Given the description of an element on the screen output the (x, y) to click on. 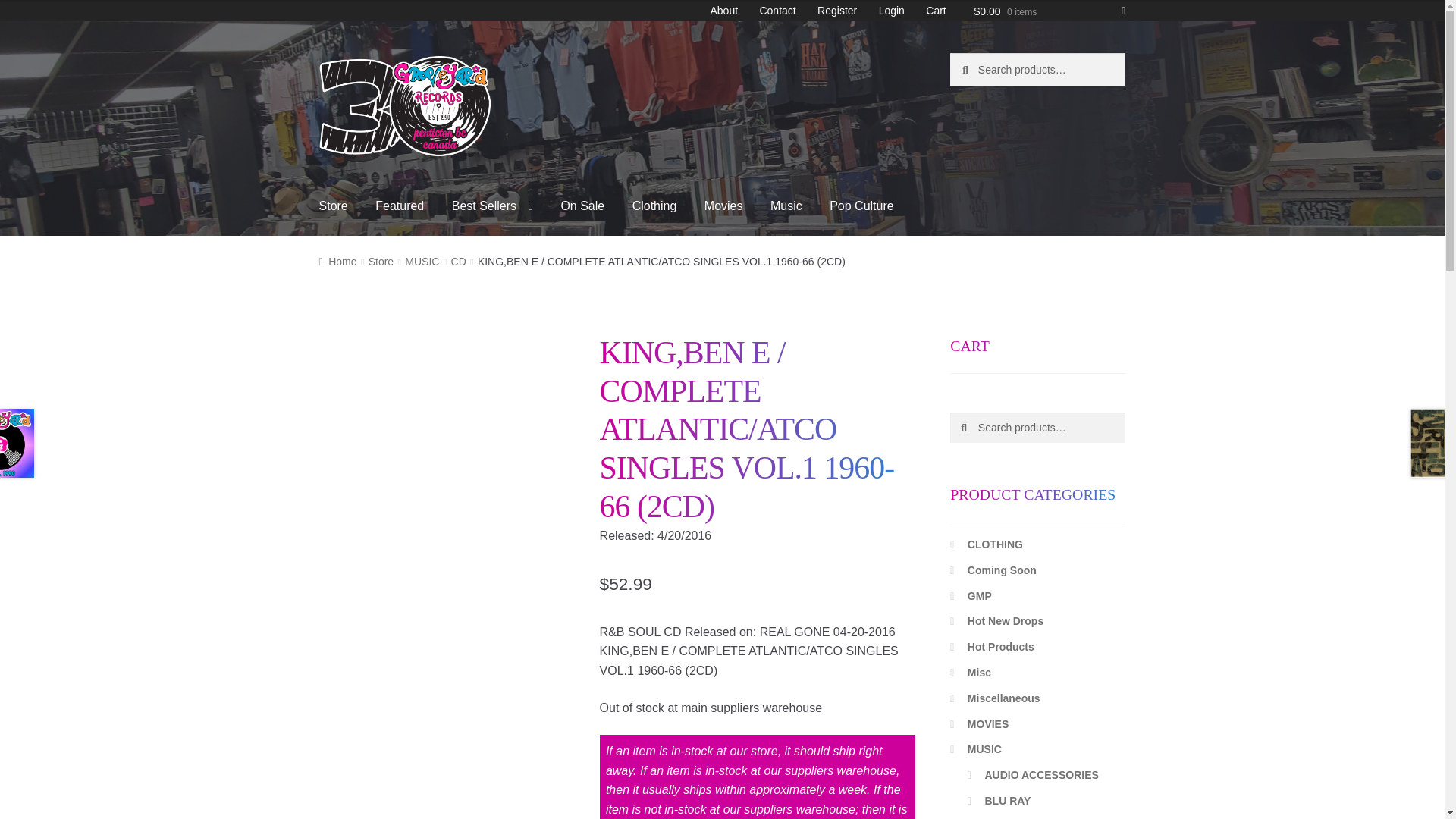
View your shopping cart (1049, 9)
Featured (398, 205)
On Sale (581, 205)
Clothing (654, 205)
Music (785, 205)
Login (891, 10)
About (723, 10)
Register (837, 10)
Contact (777, 10)
Best Sellers (491, 205)
Movies (724, 205)
Cart (936, 10)
Store (333, 205)
